Given the description of an element on the screen output the (x, y) to click on. 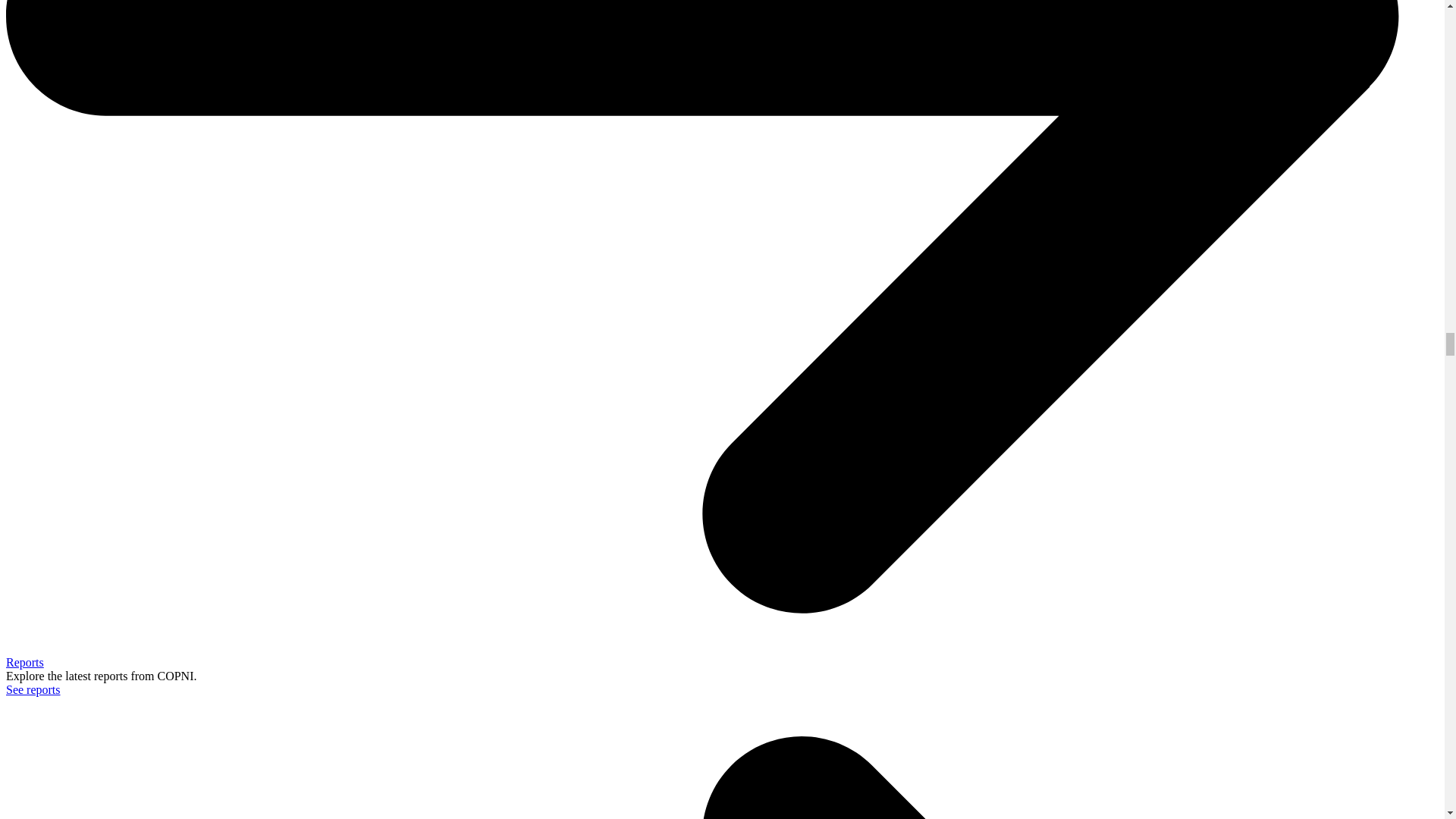
Reports (24, 662)
